Given the description of an element on the screen output the (x, y) to click on. 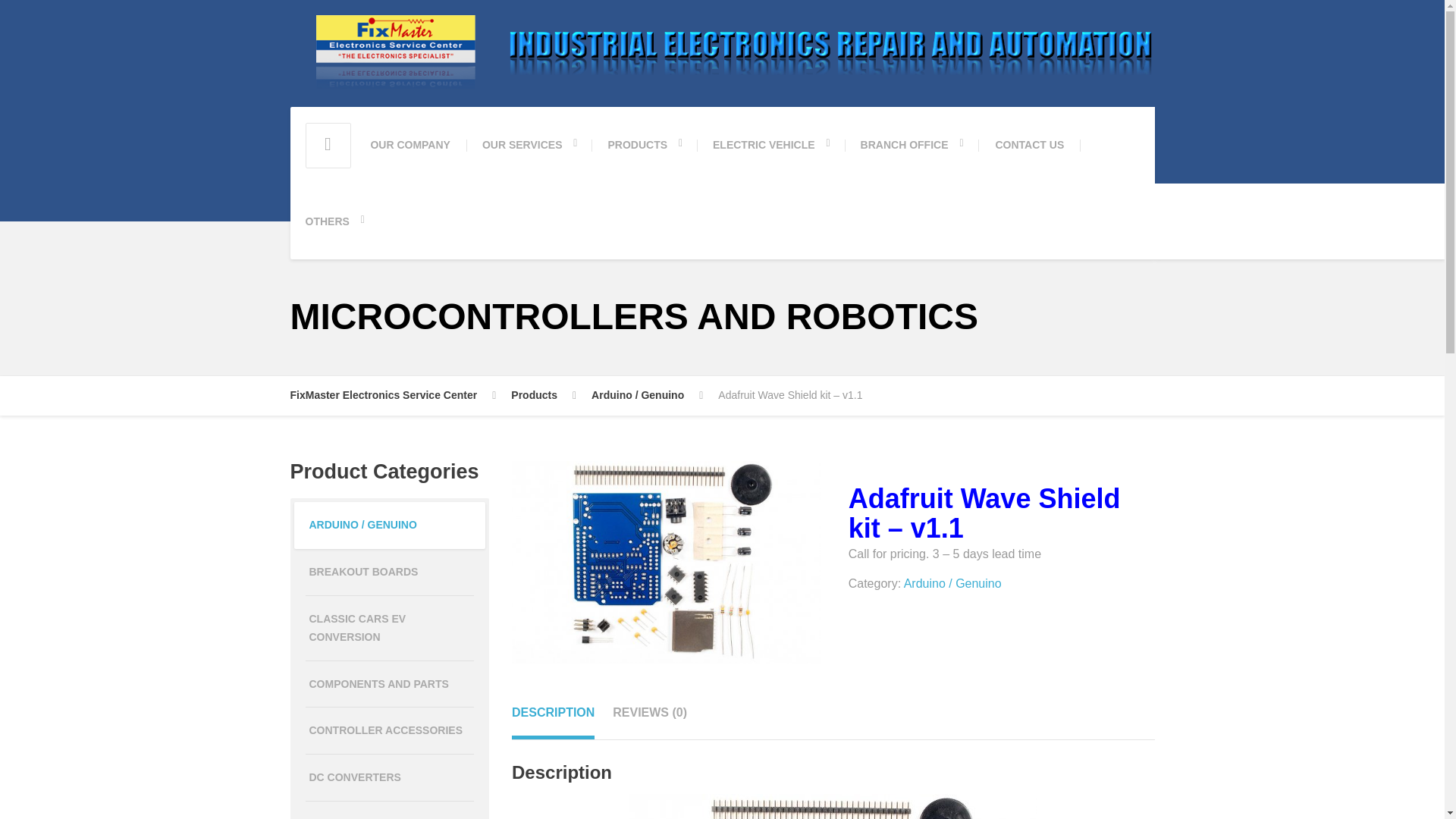
ELECTRIC VEHICLE (771, 144)
897be27ed95f14e4cc286fd98998fe0e.image.538x354 (666, 562)
OTHERS (333, 221)
Go to FixMaster Electronics Service Center. (392, 395)
PRODUCTS (644, 144)
FixMaster Electronics Service Center (392, 395)
OUR SERVICES (529, 144)
Products (543, 395)
CONTACT US (1029, 144)
BRANCH OFFICE (911, 144)
